Given the description of an element on the screen output the (x, y) to click on. 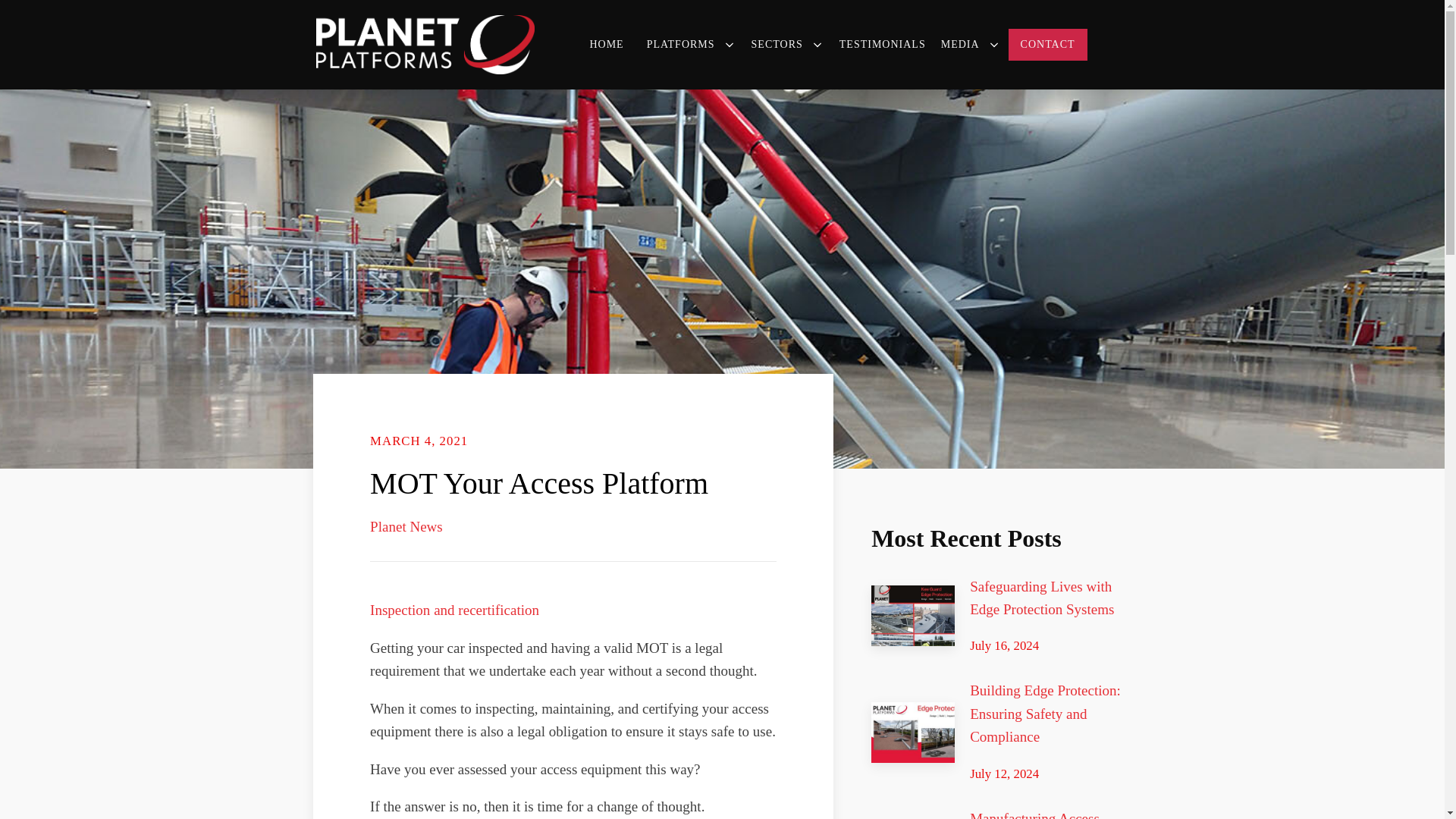
HOME (609, 44)
TESTIMONIALS (883, 44)
CONTACT (1048, 44)
